Given the description of an element on the screen output the (x, y) to click on. 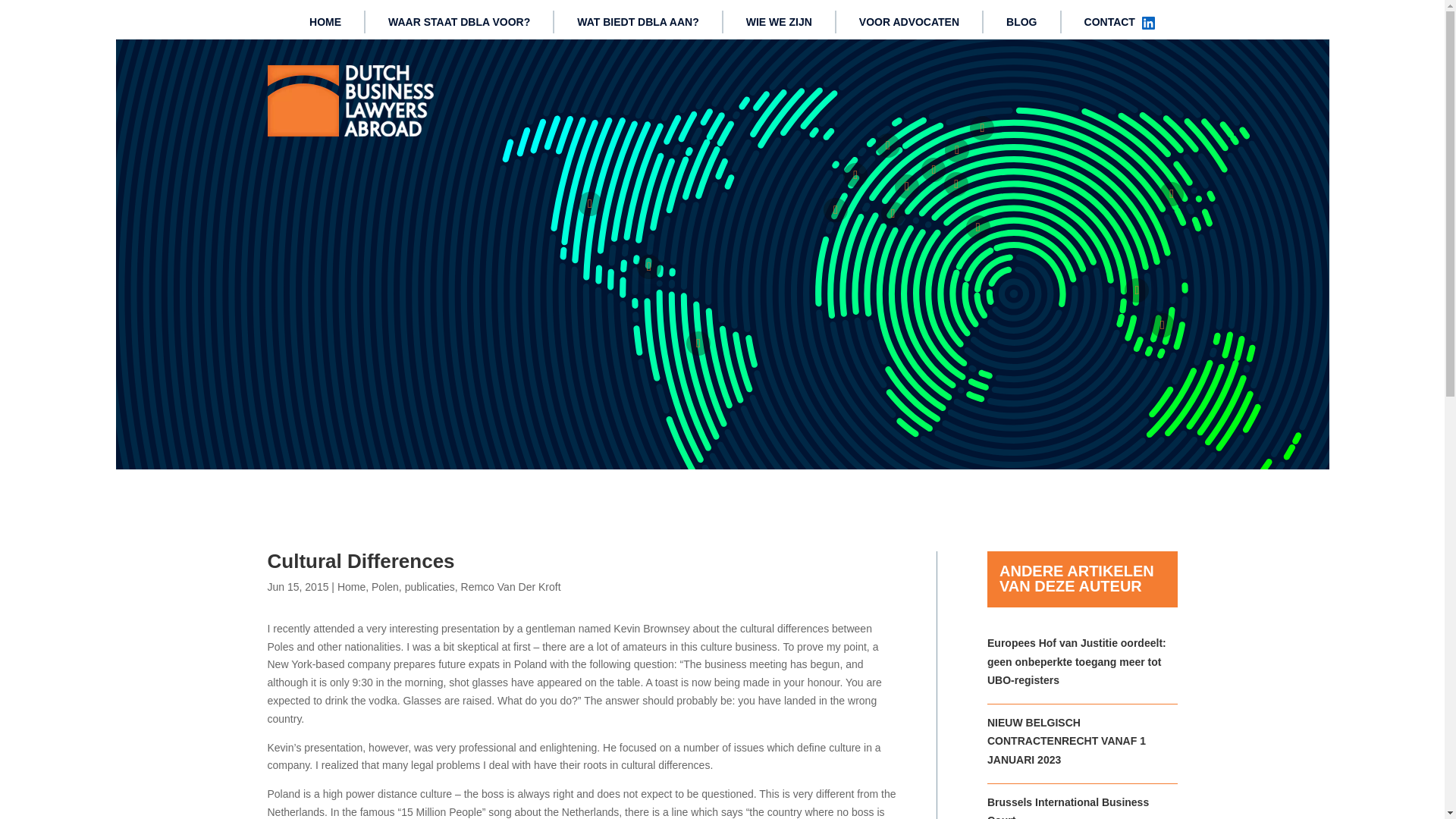
WIE WE ZIJN (778, 24)
WAAR STAAT DBLA VOOR? (458, 24)
Brussels International Business Court (1067, 807)
Home (351, 586)
VOOR ADVOCATEN (909, 24)
WAT BIEDT DBLA AAN? (637, 24)
HOME (324, 24)
NIEUW BELGISCH CONTRACTENRECHT VANAF 1 JANUARI 2023 (1066, 740)
Remco Van Der Kroft (510, 586)
publicaties (429, 586)
BLOG (1021, 24)
Polen (384, 586)
CONTACT (1109, 24)
